Given the description of an element on the screen output the (x, y) to click on. 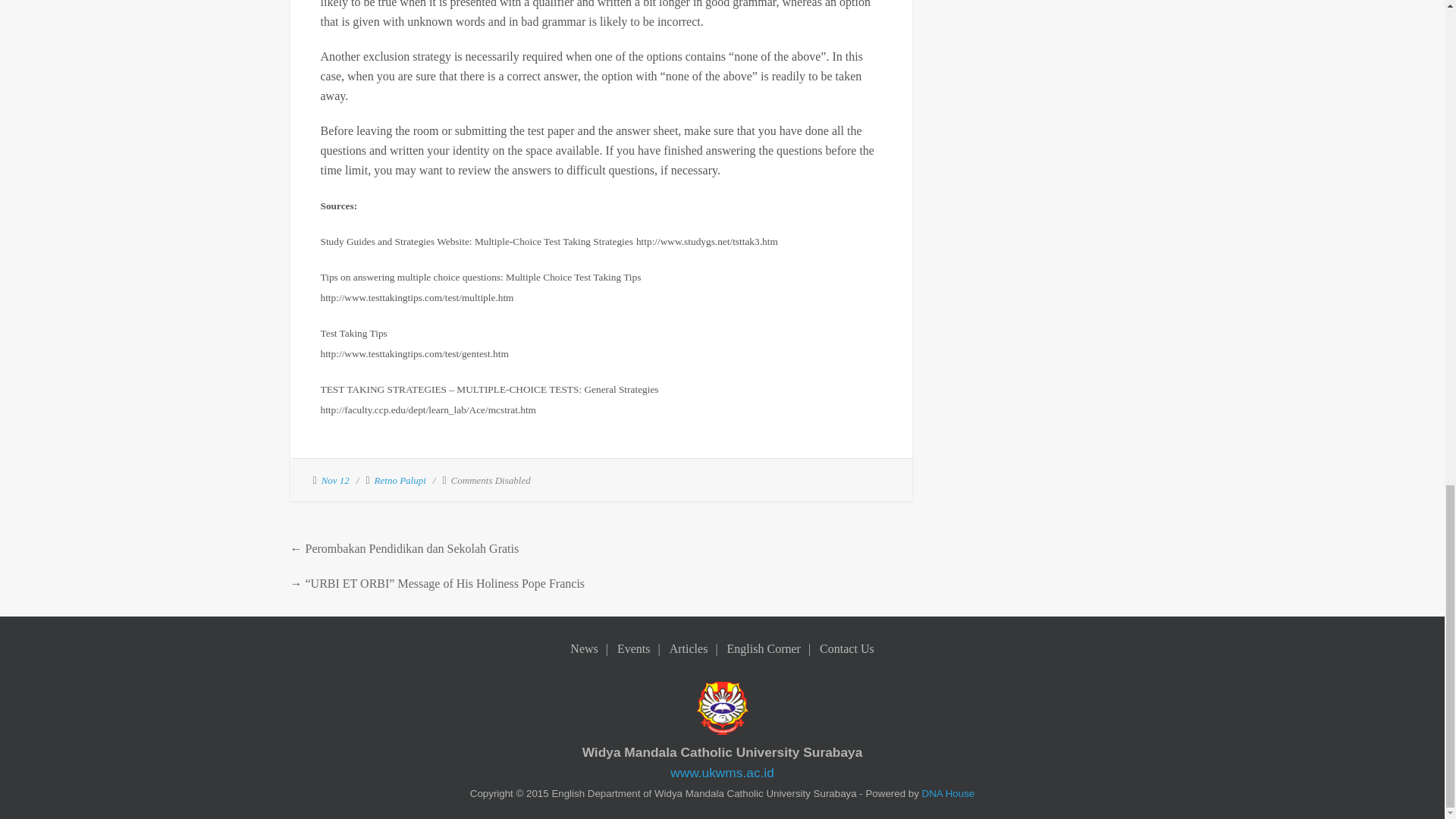
Retno Palupi (400, 480)
Saturday, November, 2016, 9:08 am (335, 480)
